Given the description of an element on the screen output the (x, y) to click on. 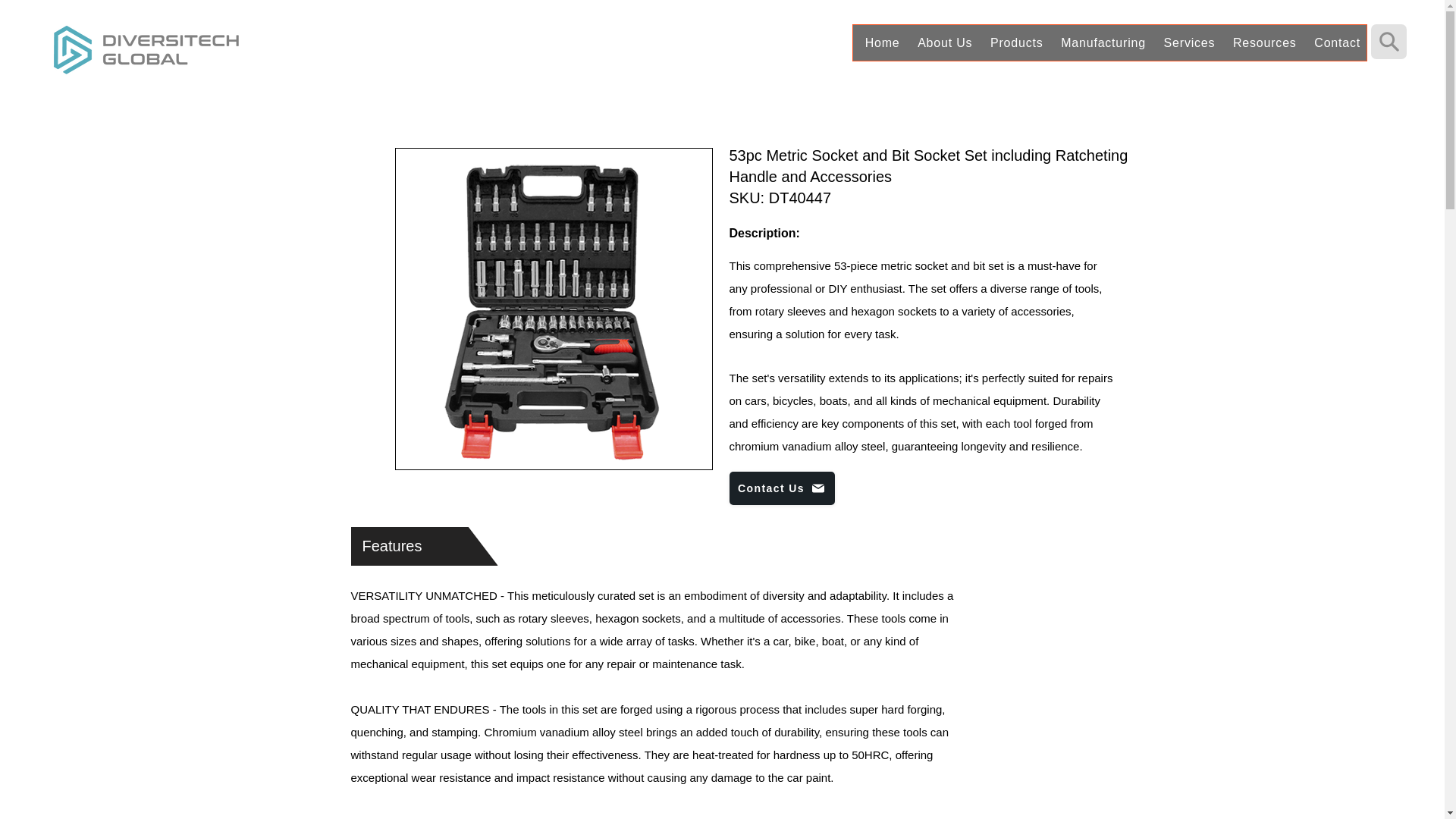
Home (879, 42)
DT40447.png (551, 311)
